Given the description of an element on the screen output the (x, y) to click on. 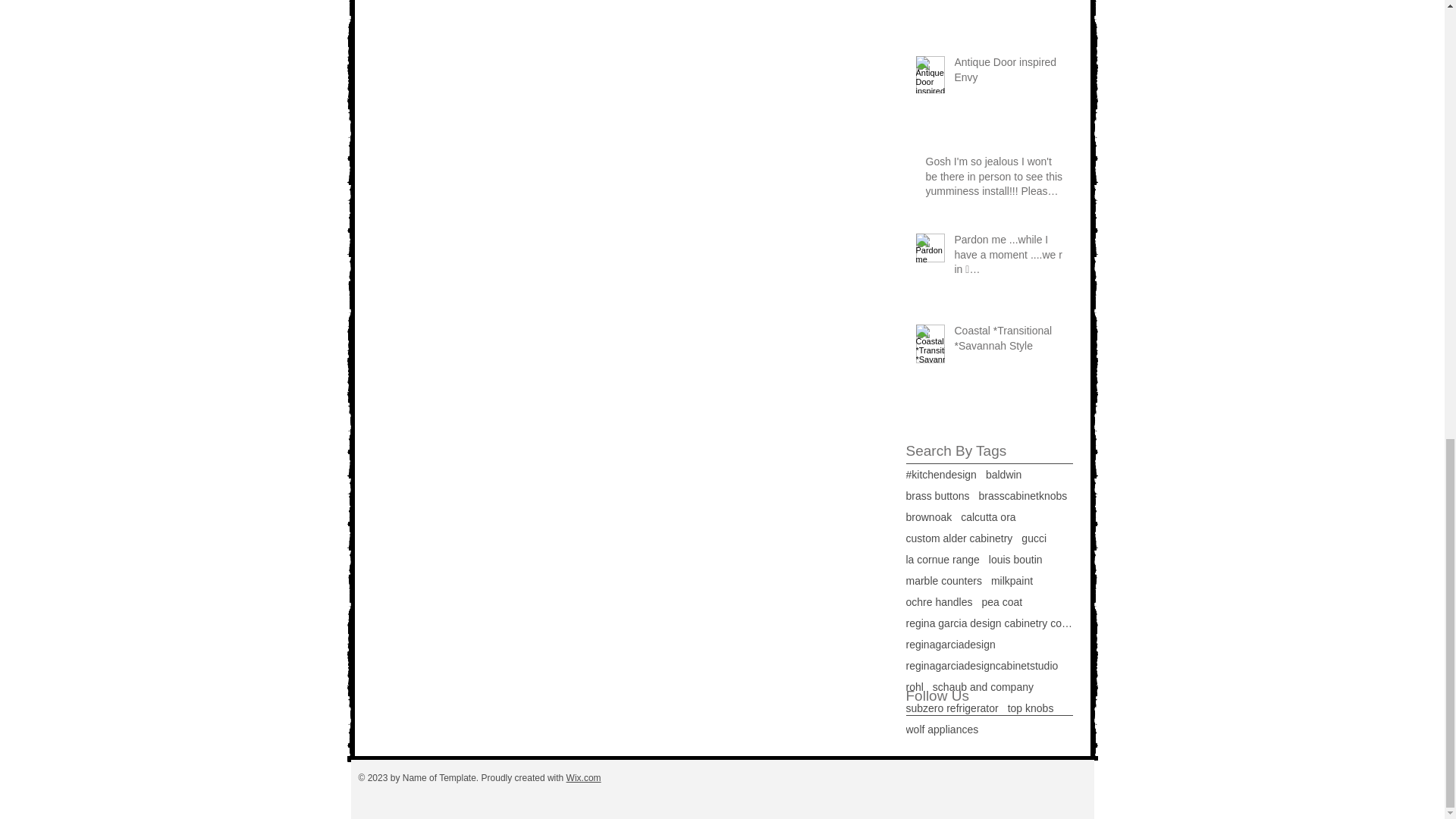
baldwin (1003, 474)
Antique Door inspired Envy (1007, 72)
